Given the description of an element on the screen output the (x, y) to click on. 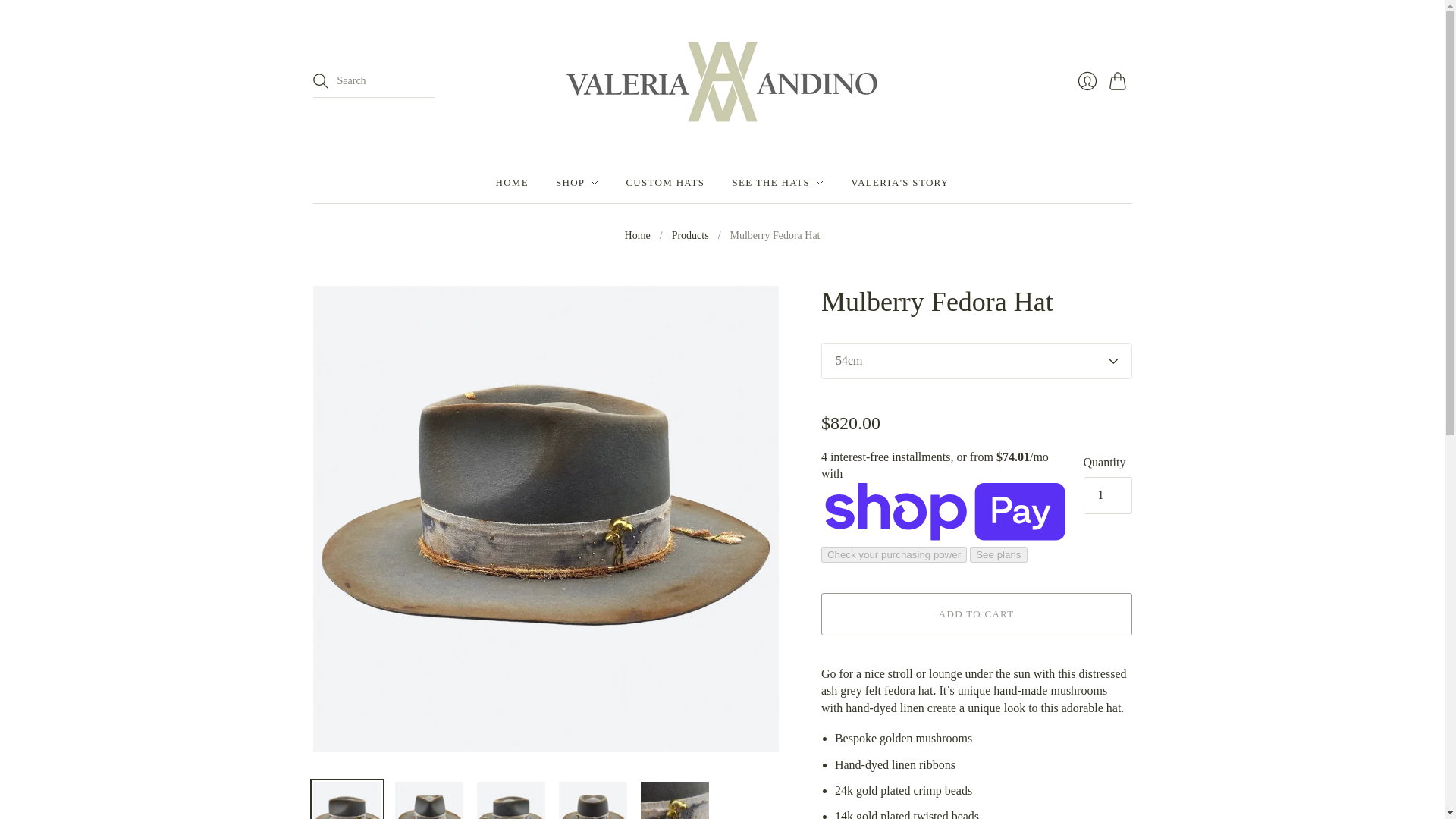
CUSTOM HATS (665, 182)
Login (1086, 81)
VALERIA'S STORY (899, 182)
1 (1107, 494)
Cart (1119, 81)
HOME (511, 182)
Products (690, 235)
Home (637, 235)
